Given the description of an element on the screen output the (x, y) to click on. 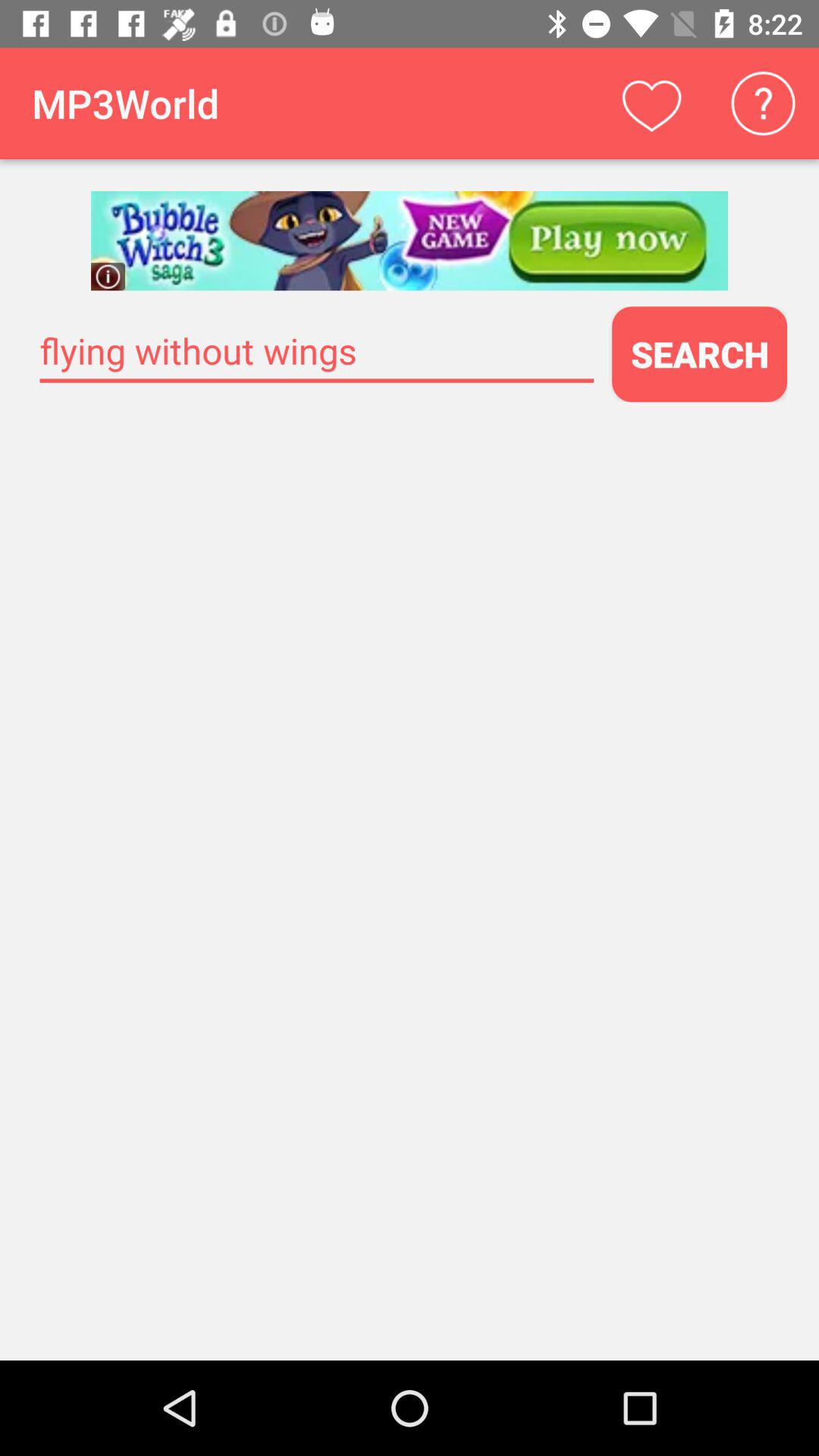
go to play now (409, 240)
